Given the description of an element on the screen output the (x, y) to click on. 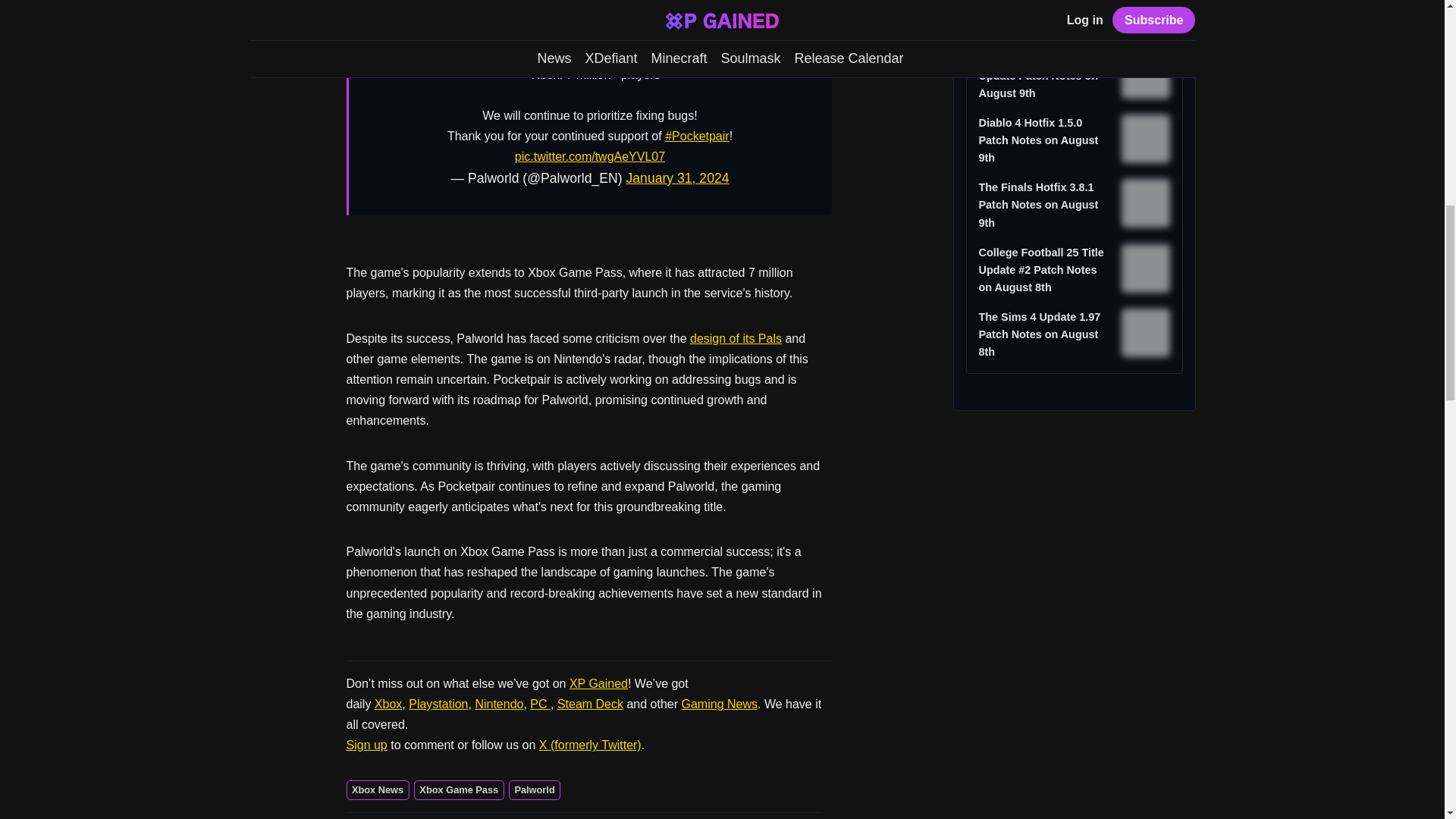
Xbox News (377, 790)
Xbox Game Pass (458, 790)
Palworld (534, 790)
